Given the description of an element on the screen output the (x, y) to click on. 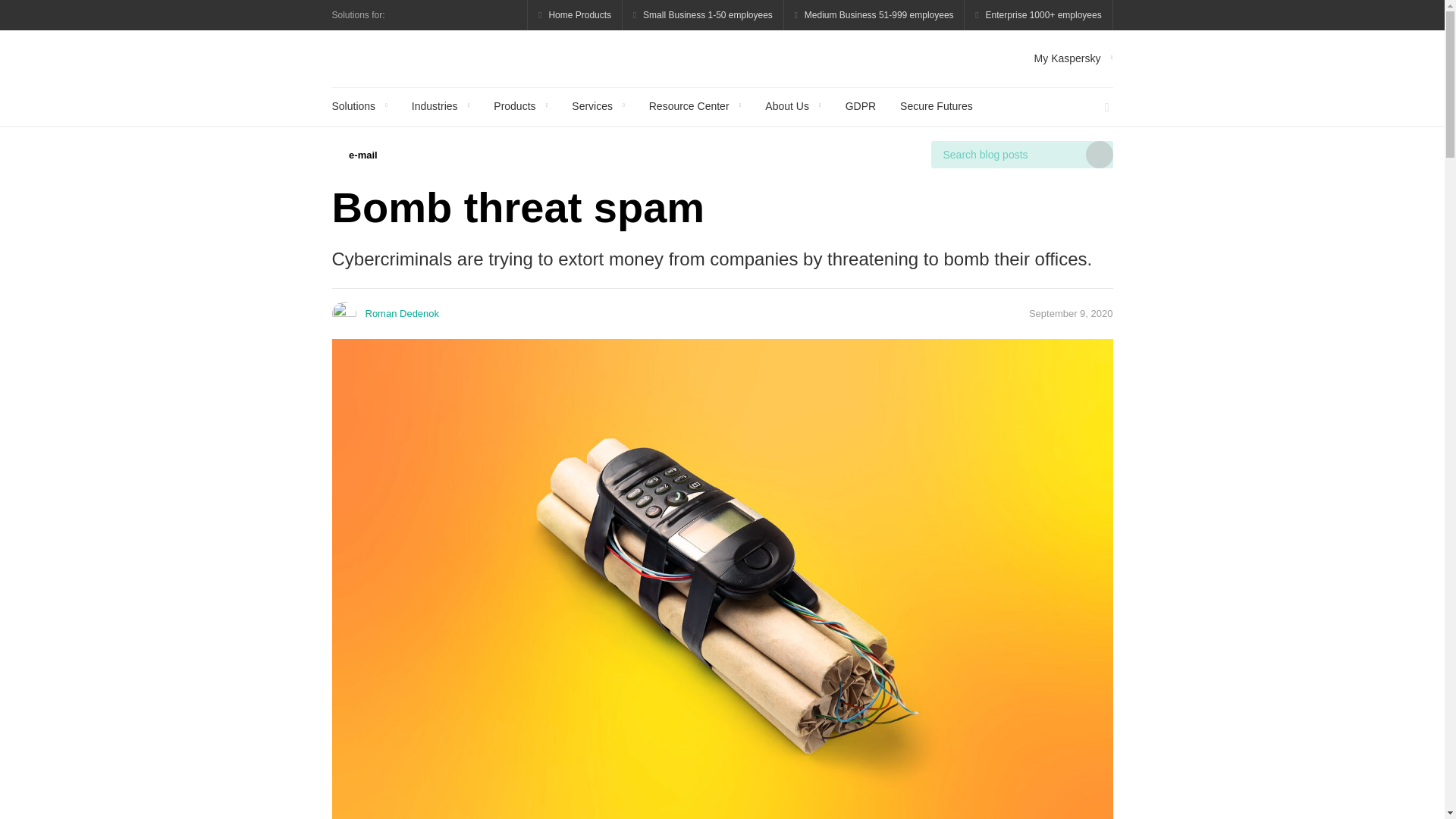
Services (598, 106)
Industries (440, 106)
My Kaspersky (1073, 58)
font-icons icon-small-business (703, 15)
Small Business 1-50 employees (703, 15)
Solutions (359, 106)
Home Products (575, 15)
Kaspersky official blog (415, 58)
Kaspersky official blog (415, 58)
Products (520, 106)
Medium Business 51-999 employees (874, 15)
